Given the description of an element on the screen output the (x, y) to click on. 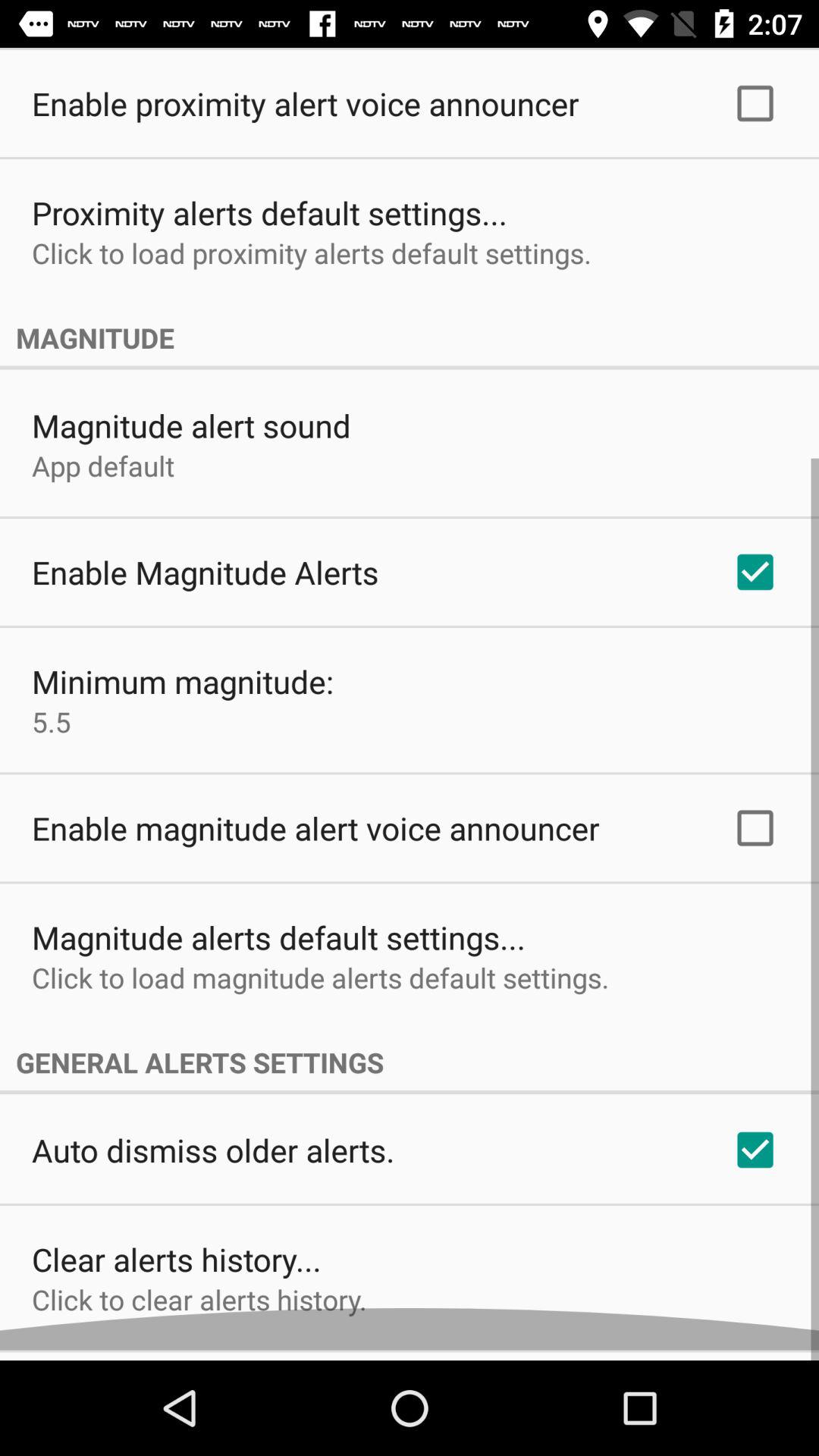
turn on the minimum magnitude: icon (182, 691)
